Given the description of an element on the screen output the (x, y) to click on. 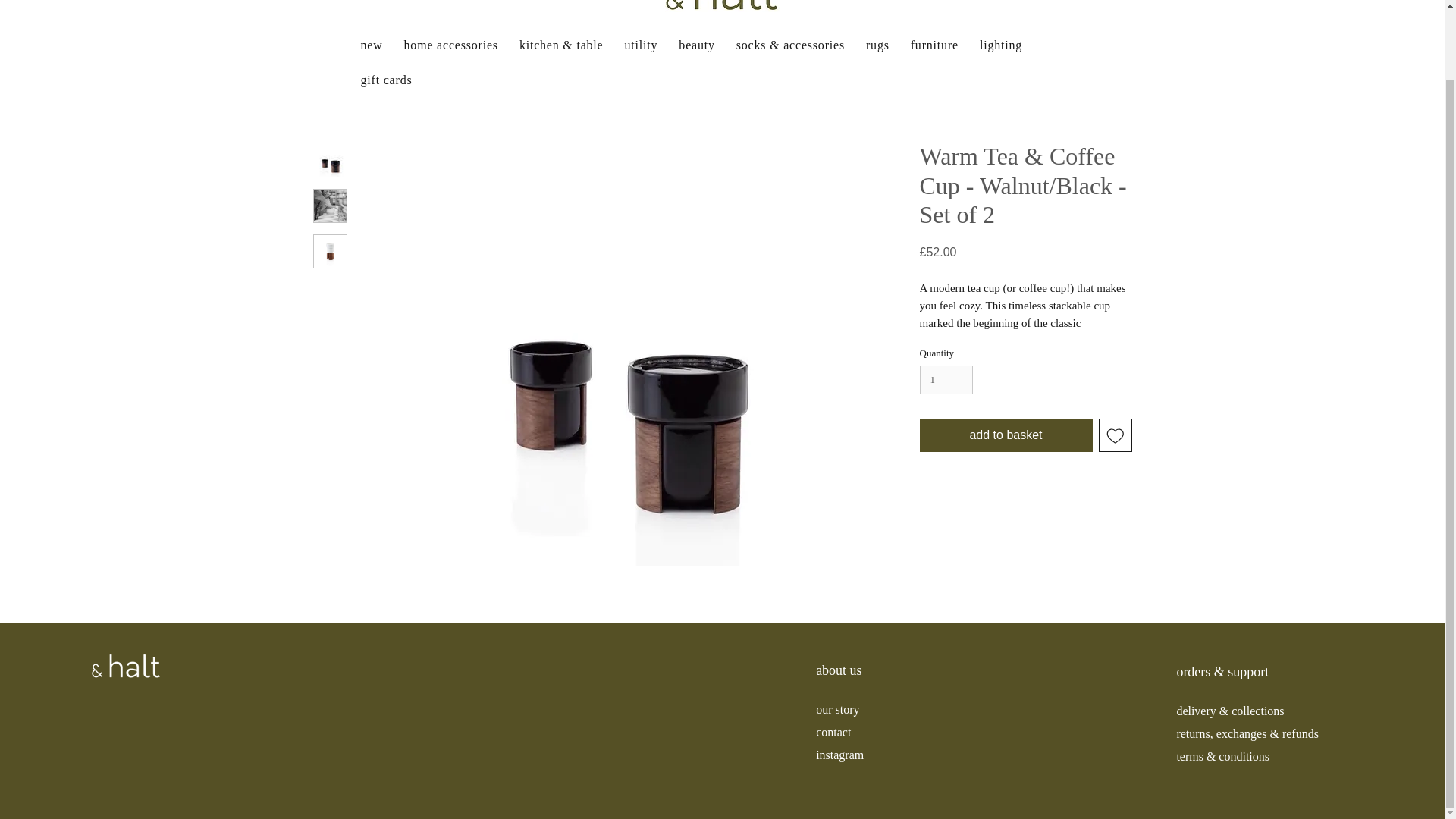
new (371, 45)
1 (945, 379)
